Given the description of an element on the screen output the (x, y) to click on. 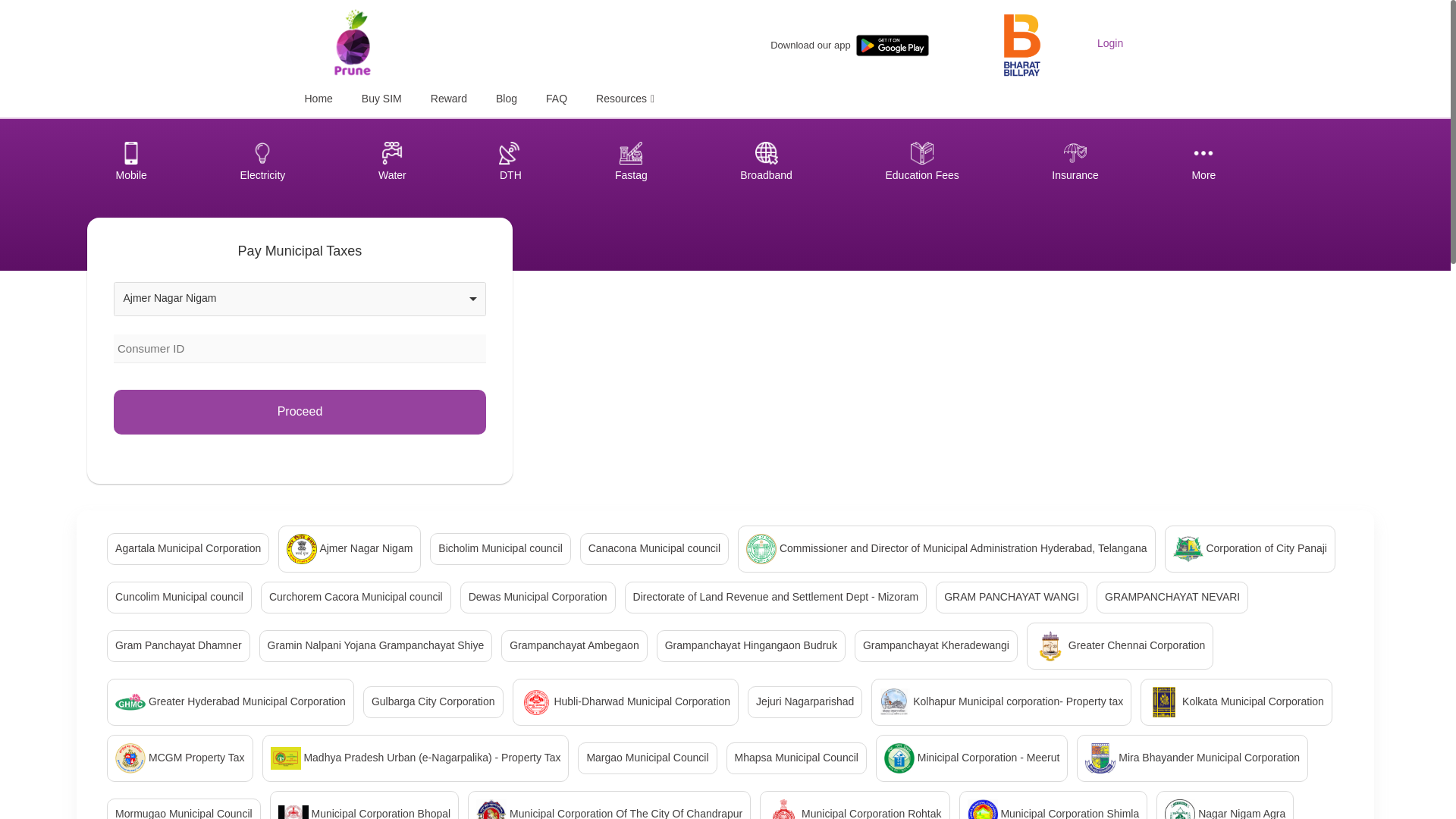
Bicholim Municipal council (499, 549)
Water (392, 162)
Download our app (810, 45)
FAQ (556, 98)
Blog (506, 98)
Ajmer Nagar Nigam (349, 548)
Home (318, 98)
Mobile (131, 162)
Fastag (630, 162)
Insurance (1074, 162)
Canacona Municipal council (654, 549)
Reward (448, 98)
More (1203, 162)
DTH (510, 162)
